Given the description of an element on the screen output the (x, y) to click on. 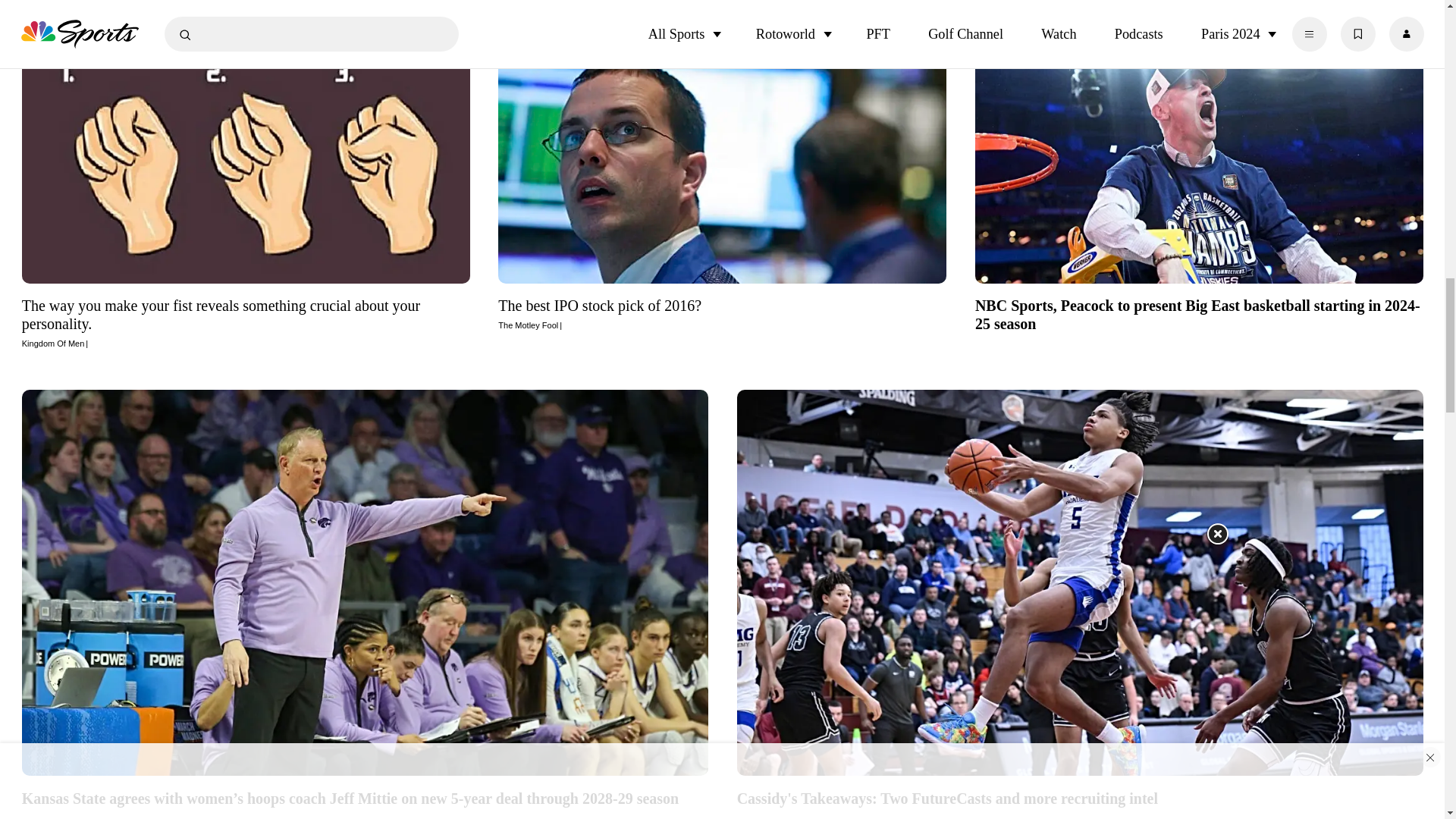
The best IPO stock pick of 2016? (721, 313)
